Given the description of an element on the screen output the (x, y) to click on. 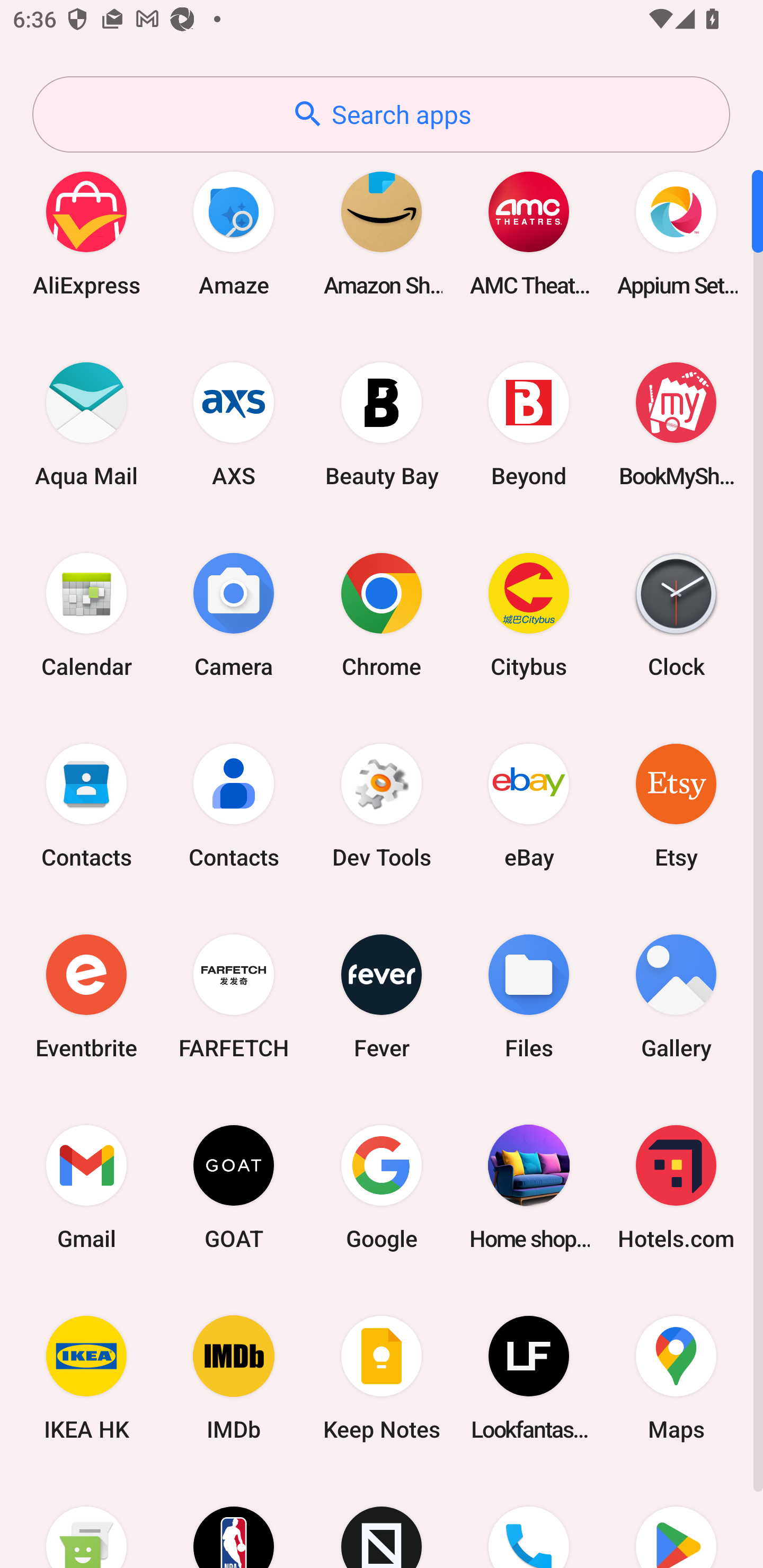
  Search apps (381, 114)
AliExpress (86, 233)
Amaze (233, 233)
Amazon Shopping (381, 233)
AMC Theatres (528, 233)
Appium Settings (676, 233)
Aqua Mail (86, 424)
AXS (233, 424)
Beauty Bay (381, 424)
Beyond (528, 424)
BookMyShow (676, 424)
Calendar (86, 614)
Camera (233, 614)
Chrome (381, 614)
Citybus (528, 614)
Clock (676, 614)
Contacts (86, 805)
Contacts (233, 805)
Dev Tools (381, 805)
eBay (528, 805)
Etsy (676, 805)
Eventbrite (86, 996)
FARFETCH (233, 996)
Fever (381, 996)
Files (528, 996)
Gallery (676, 996)
Gmail (86, 1186)
GOAT (233, 1186)
Google (381, 1186)
Home shopping (528, 1186)
Hotels.com (676, 1186)
IKEA HK (86, 1377)
IMDb (233, 1377)
Keep Notes (381, 1377)
Lookfantastic (528, 1377)
Maps (676, 1377)
Messaging (86, 1520)
NBA (233, 1520)
Novelship (381, 1520)
Phone (528, 1520)
Play Store (676, 1520)
